Given the description of an element on the screen output the (x, y) to click on. 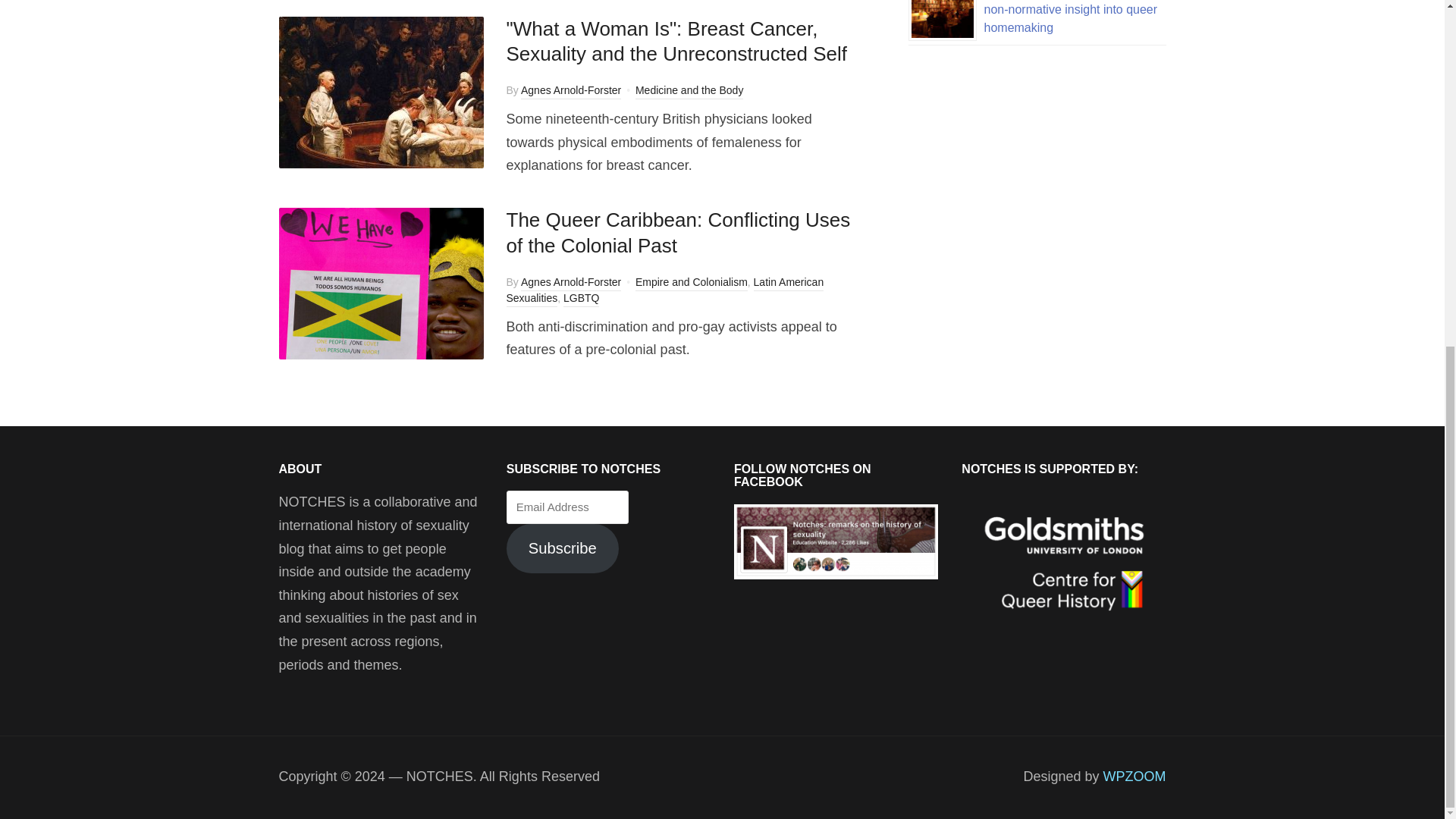
Latin American Sexualities (665, 291)
NOTCHES is supported by: (1063, 564)
Medicine and the Body (688, 91)
The Queer Caribbean: Conflicting Uses of the Colonial Past (381, 282)
Posts by Agnes Arnold-Forster (571, 91)
The Queer Caribbean: Conflicting Uses of the Colonial Past (678, 232)
Agnes Arnold-Forster (571, 91)
Agnes Arnold-Forster (571, 283)
Empire and Colonialism (691, 283)
Posts by Agnes Arnold-Forster (571, 283)
LGBTQ (580, 299)
